Given the description of an element on the screen output the (x, y) to click on. 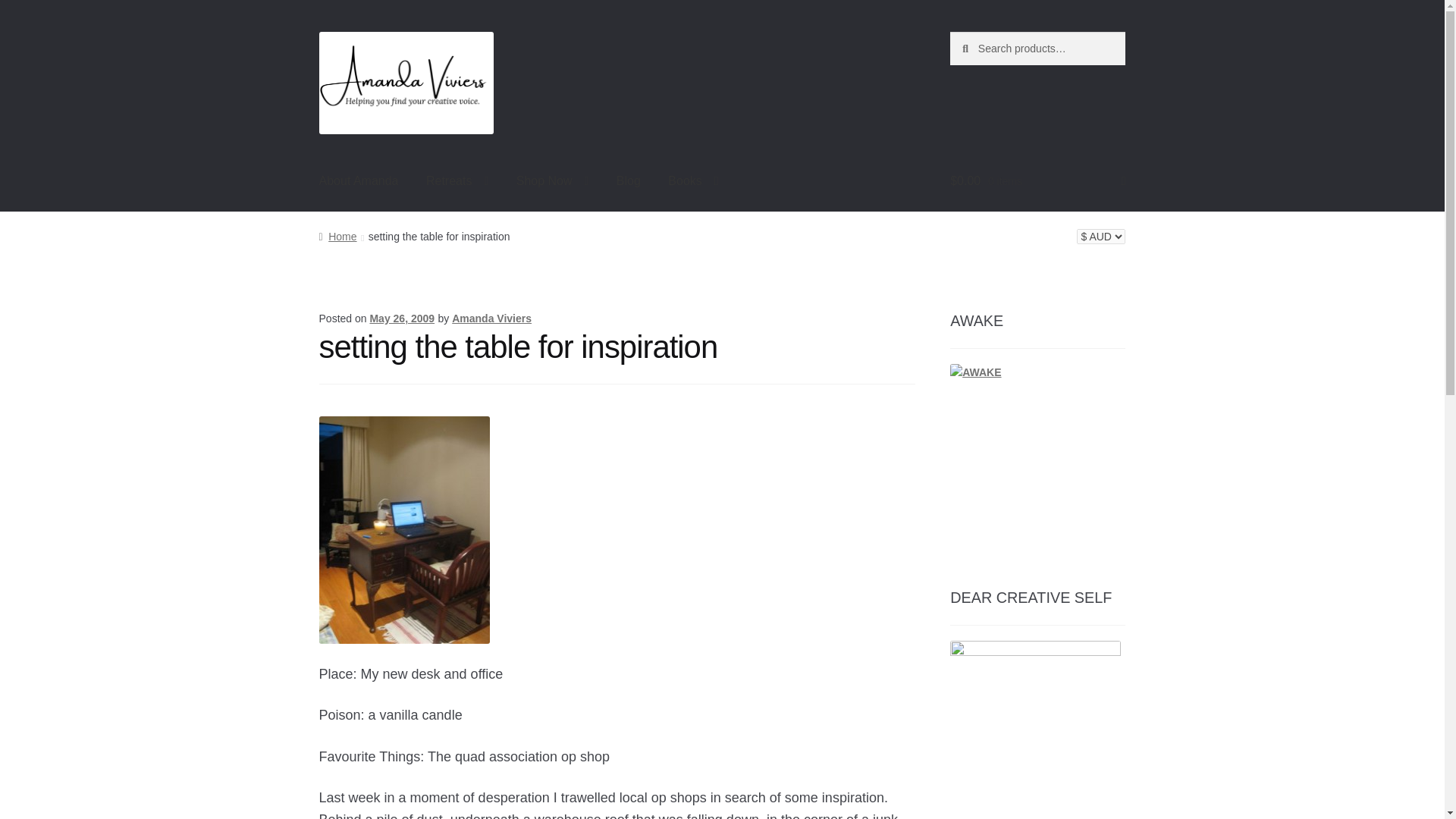
Books (693, 180)
Shop Now (552, 180)
AWAKE (1037, 455)
View your shopping cart (1037, 180)
Retreats (456, 180)
DEAR CREATIVE SELF (1035, 729)
About Amanda (358, 180)
